Given the description of an element on the screen output the (x, y) to click on. 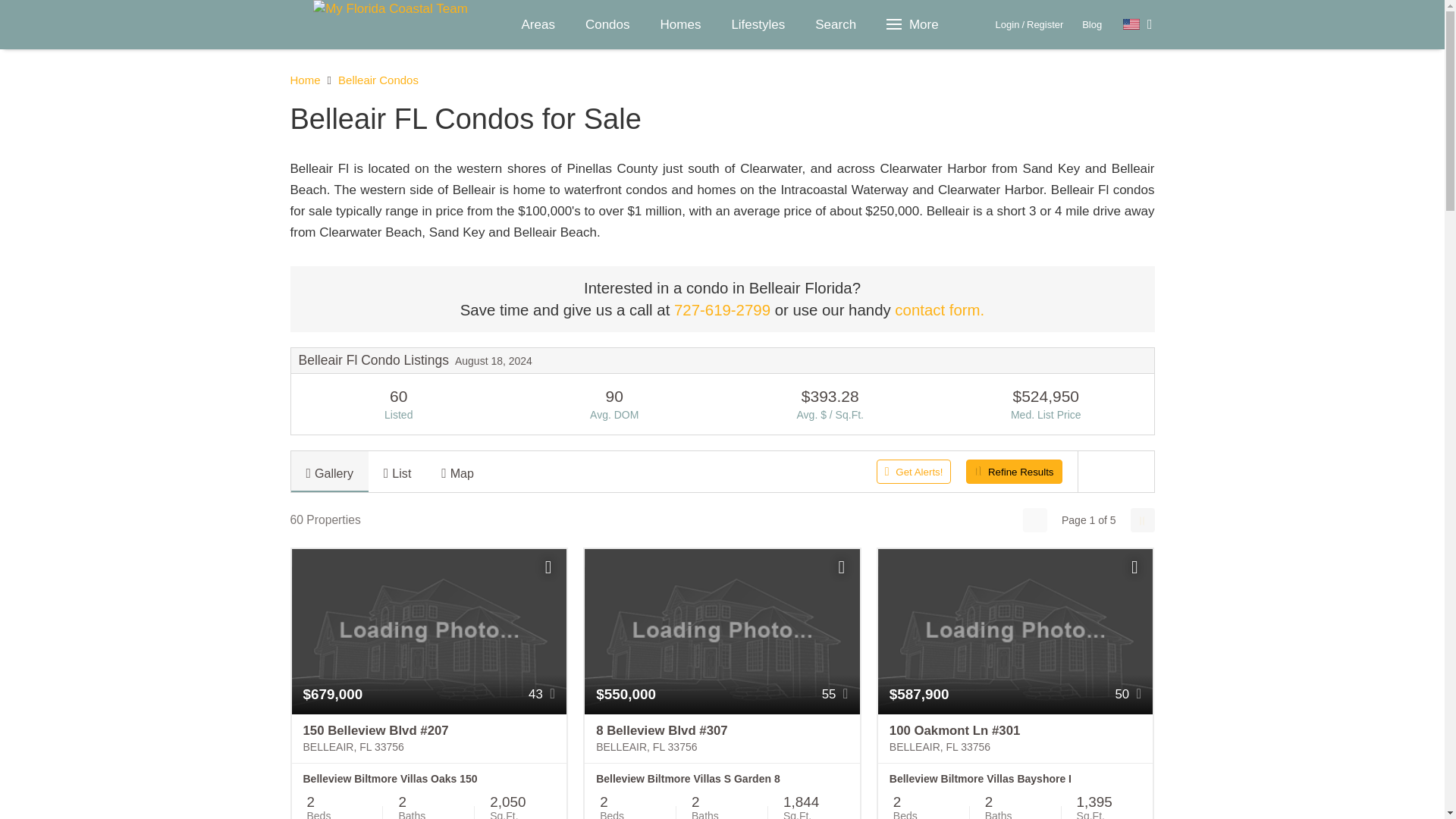
Areas (538, 24)
Select Language (1137, 24)
Condos (607, 24)
Contact A Local Expert (939, 310)
